Given the description of an element on the screen output the (x, y) to click on. 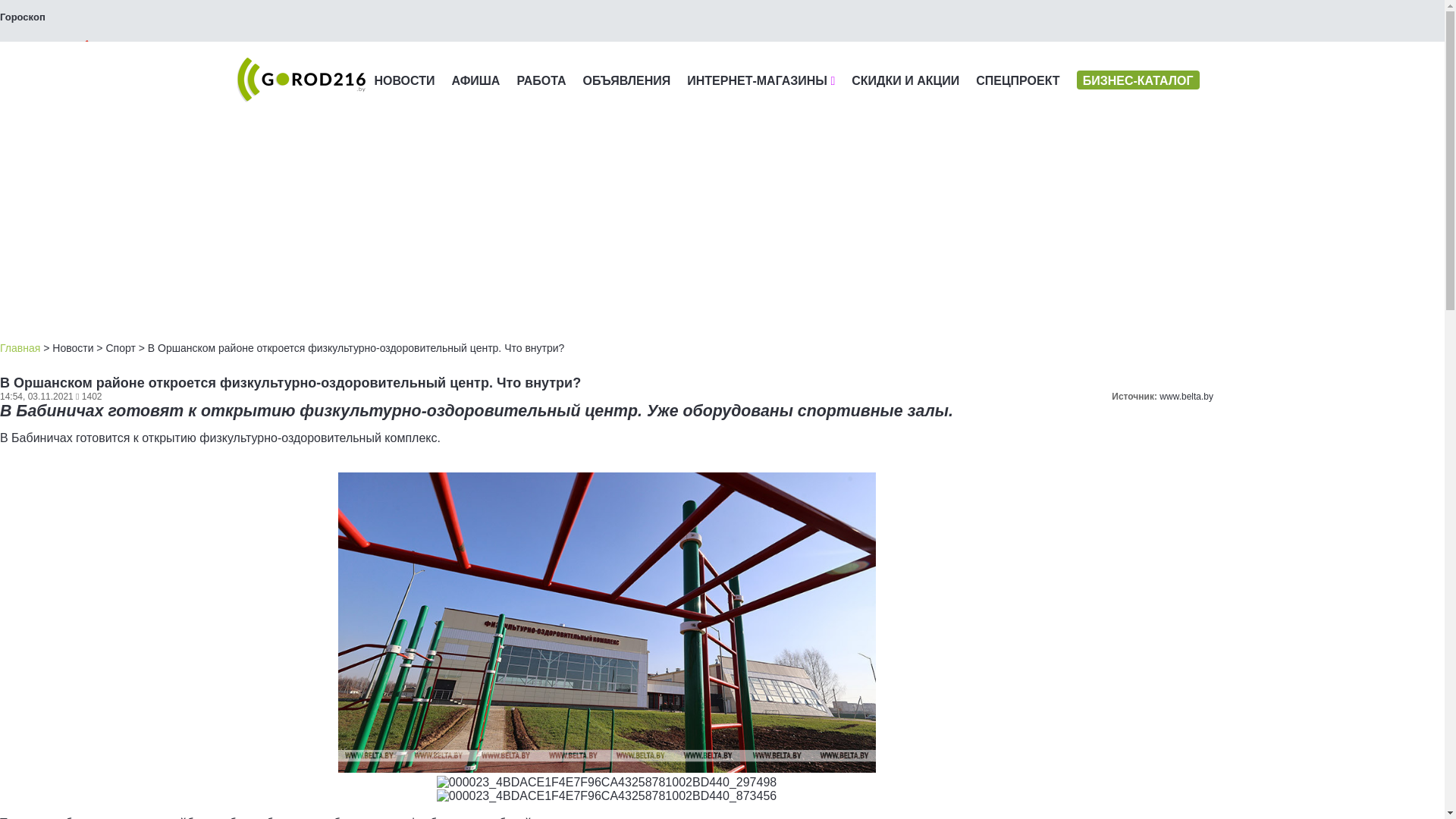
   Element type: text (49, 50)
www.belta.by Element type: text (1186, 396)
